Given the description of an element on the screen output the (x, y) to click on. 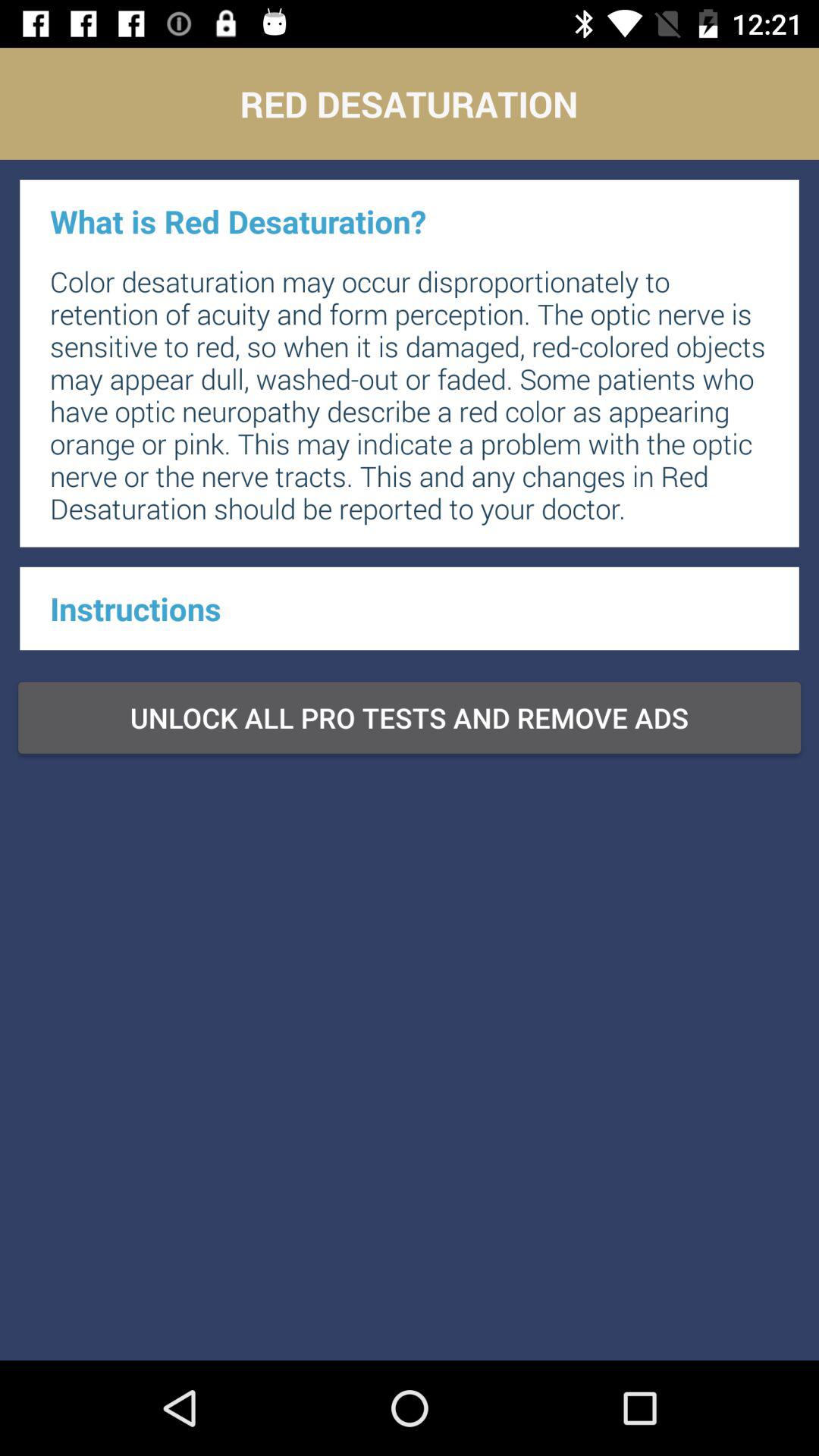
launch item at the center (409, 717)
